Given the description of an element on the screen output the (x, y) to click on. 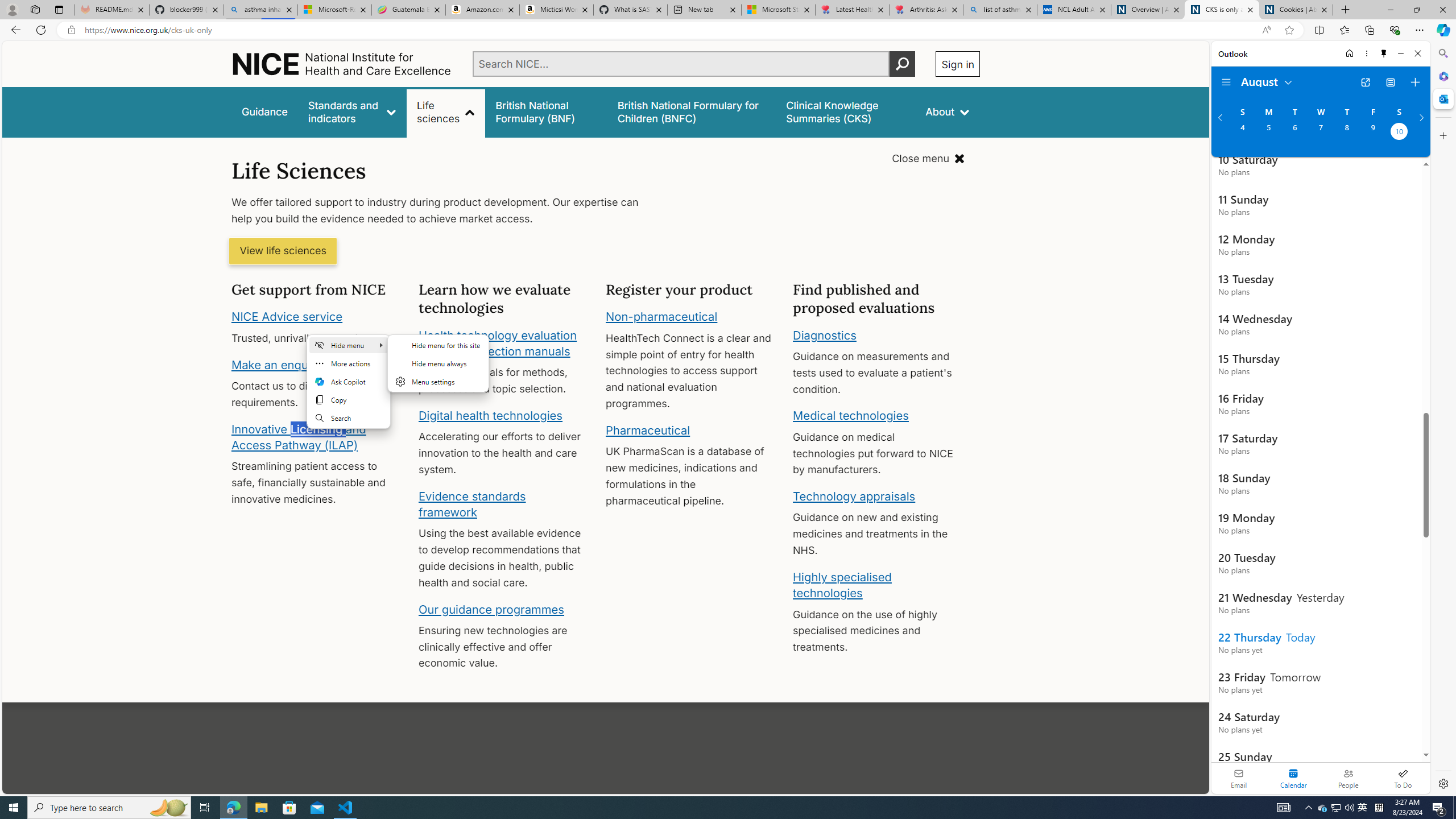
Mini menu on text selection (348, 388)
Health technology evaluation and topic selection manuals (496, 342)
